Given the description of an element on the screen output the (x, y) to click on. 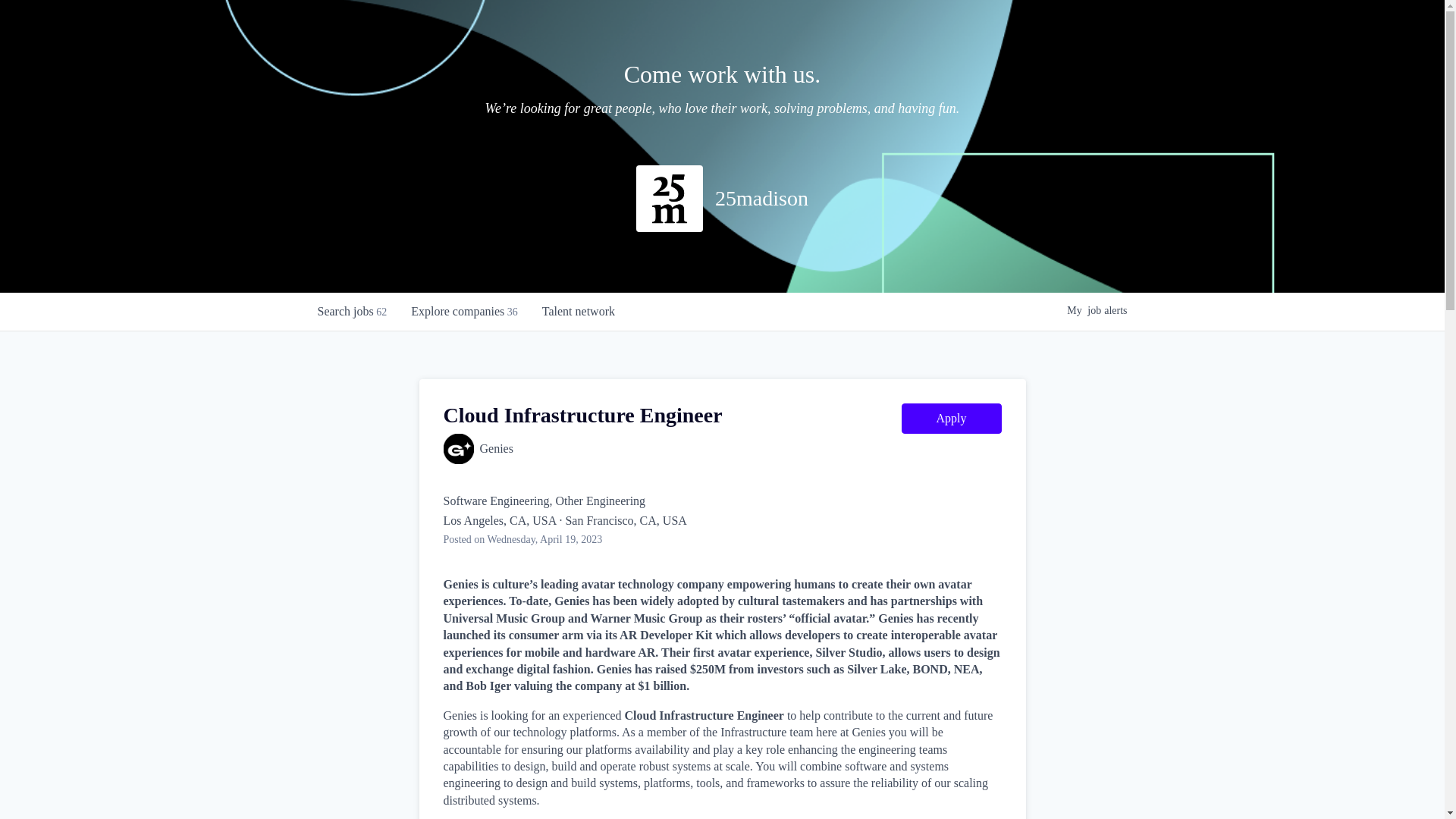
25madison Element type: text (761, 198)
Apply Element type: text (950, 418)
Talent
 network Element type: text (578, 311)
Explore 
companies
 36 Element type: text (464, 311)
Search 
jobs
 62 Element type: text (351, 311)
My 
job
alerts Element type: text (1096, 310)
